Given the description of an element on the screen output the (x, y) to click on. 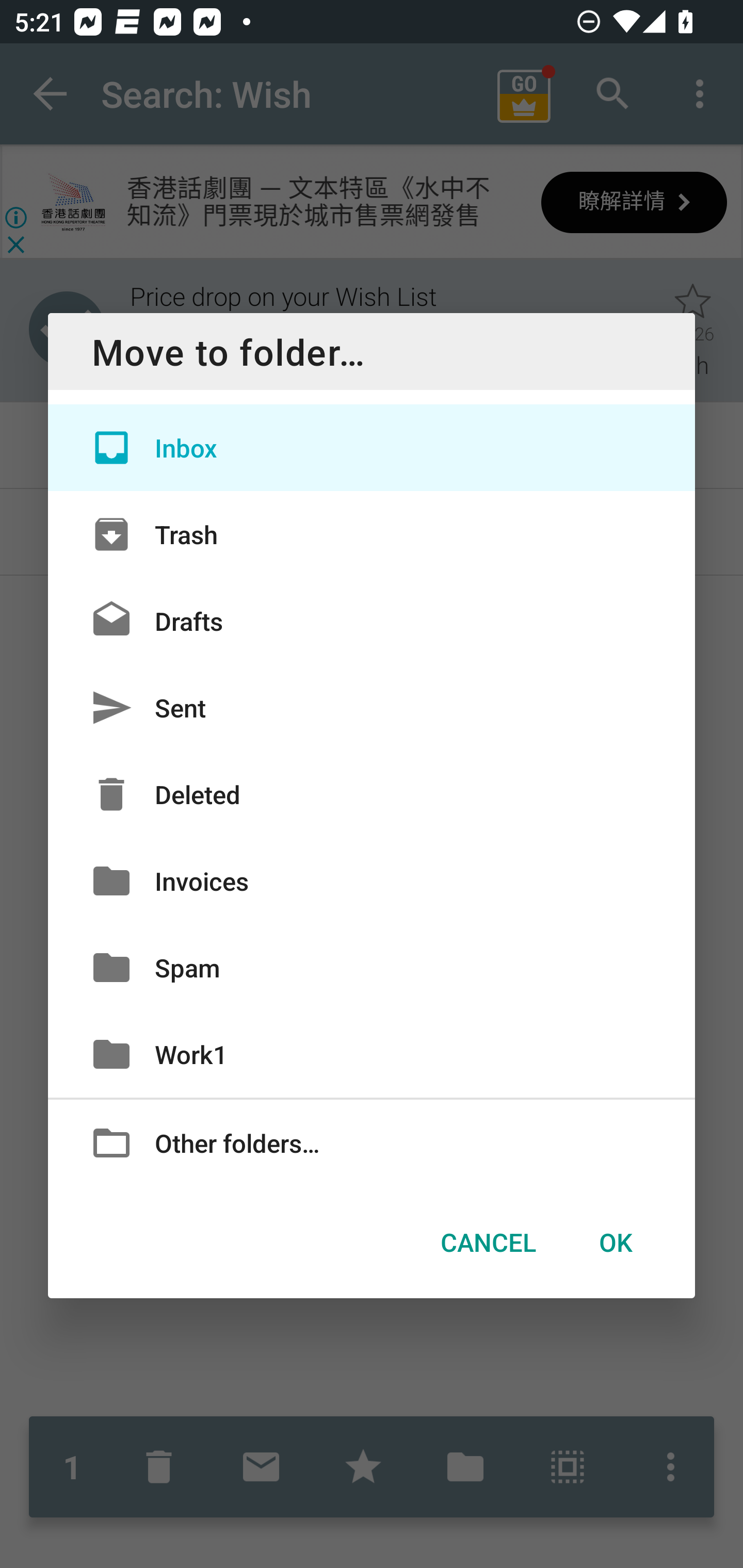
Inbox (371, 447)
Trash (371, 533)
Drafts (371, 620)
Sent (371, 707)
Deleted (371, 794)
Invoices (371, 880)
Spam (371, 967)
Work1 (371, 1054)
Other folders… (371, 1141)
CANCEL (488, 1241)
OK (615, 1241)
